Given the description of an element on the screen output the (x, y) to click on. 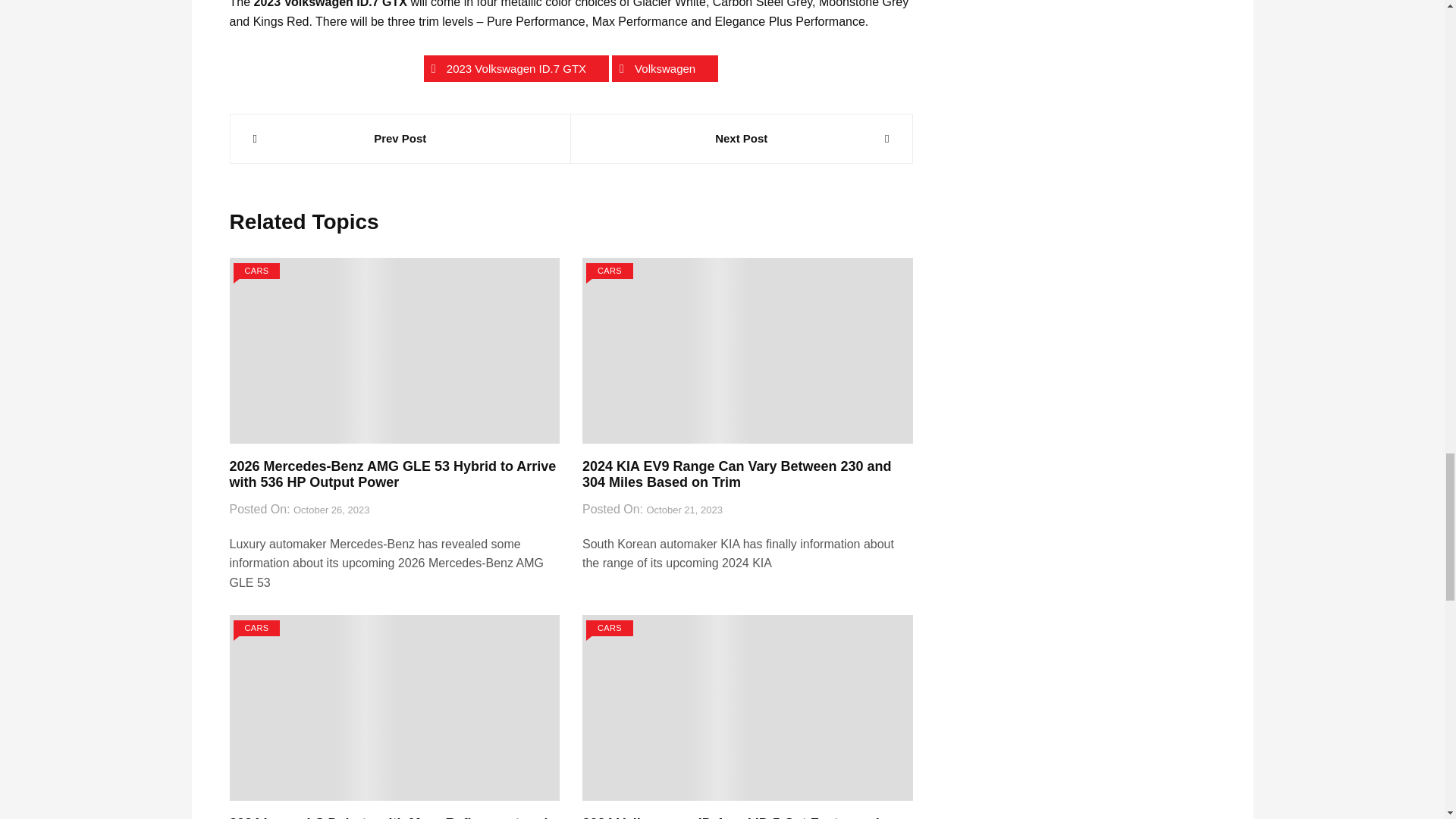
2023 Volkswagen ID.7 GTX (515, 68)
CARS (256, 270)
Prev Post (400, 138)
October 26, 2023 (331, 510)
CARS (609, 270)
Next Post (741, 138)
October 21, 2023 (684, 510)
Volkswagen (664, 68)
